Given the description of an element on the screen output the (x, y) to click on. 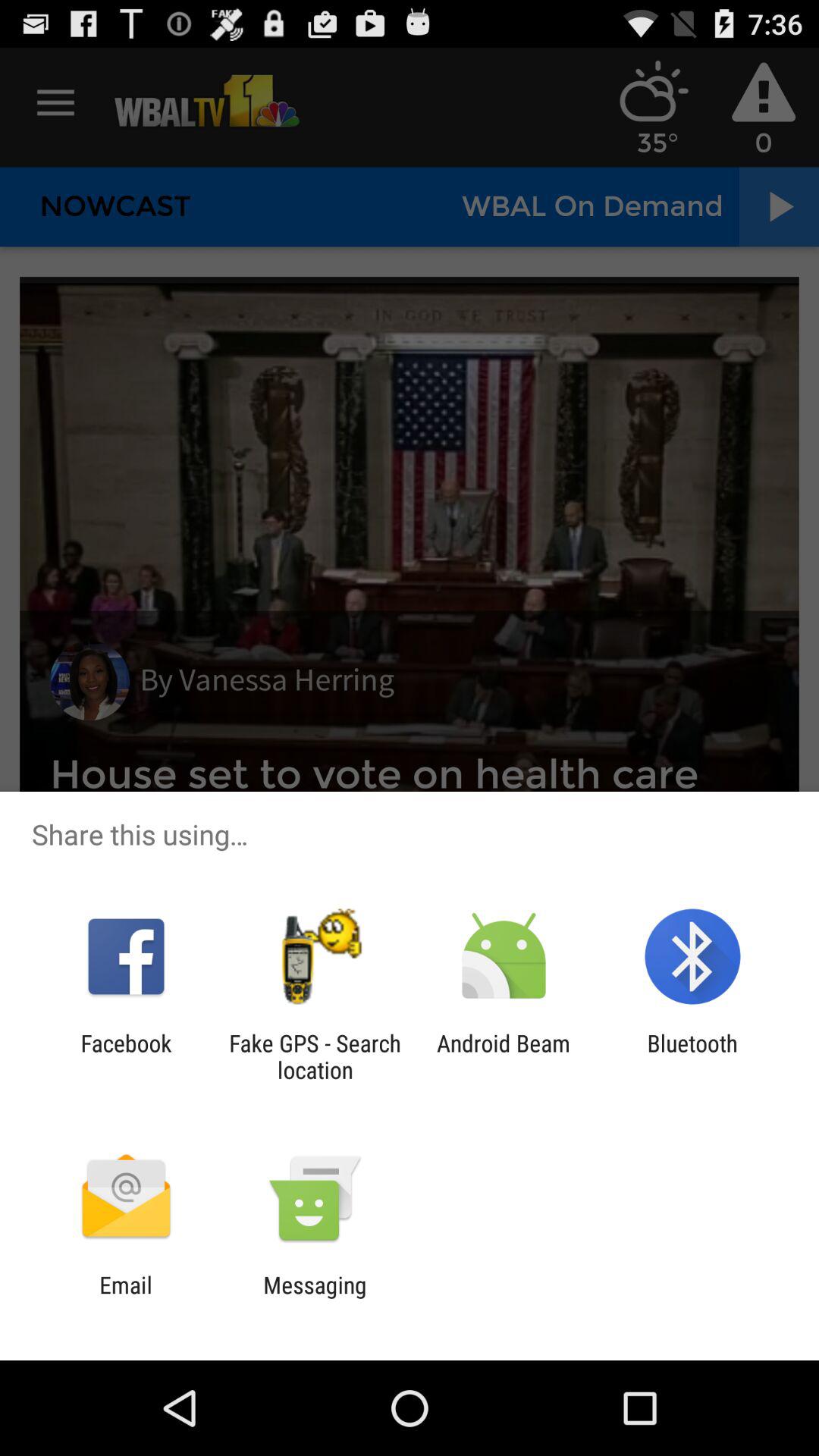
flip to the email app (125, 1298)
